Given the description of an element on the screen output the (x, y) to click on. 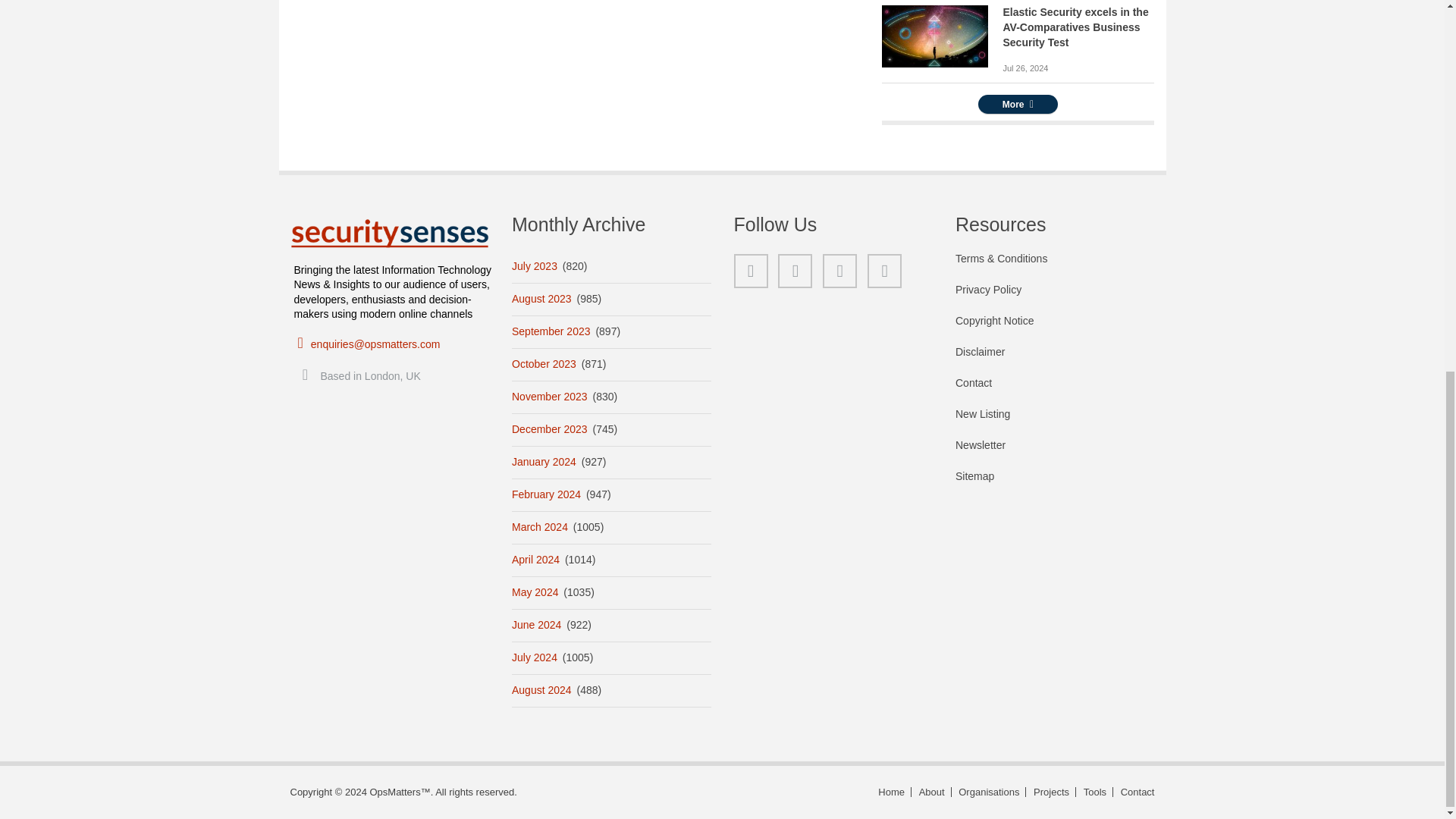
Contact us (1135, 791)
Home (389, 233)
elastic (933, 35)
Subscribe to our newsletter (1054, 452)
Takes you back to the homepage (892, 791)
